Given the description of an element on the screen output the (x, y) to click on. 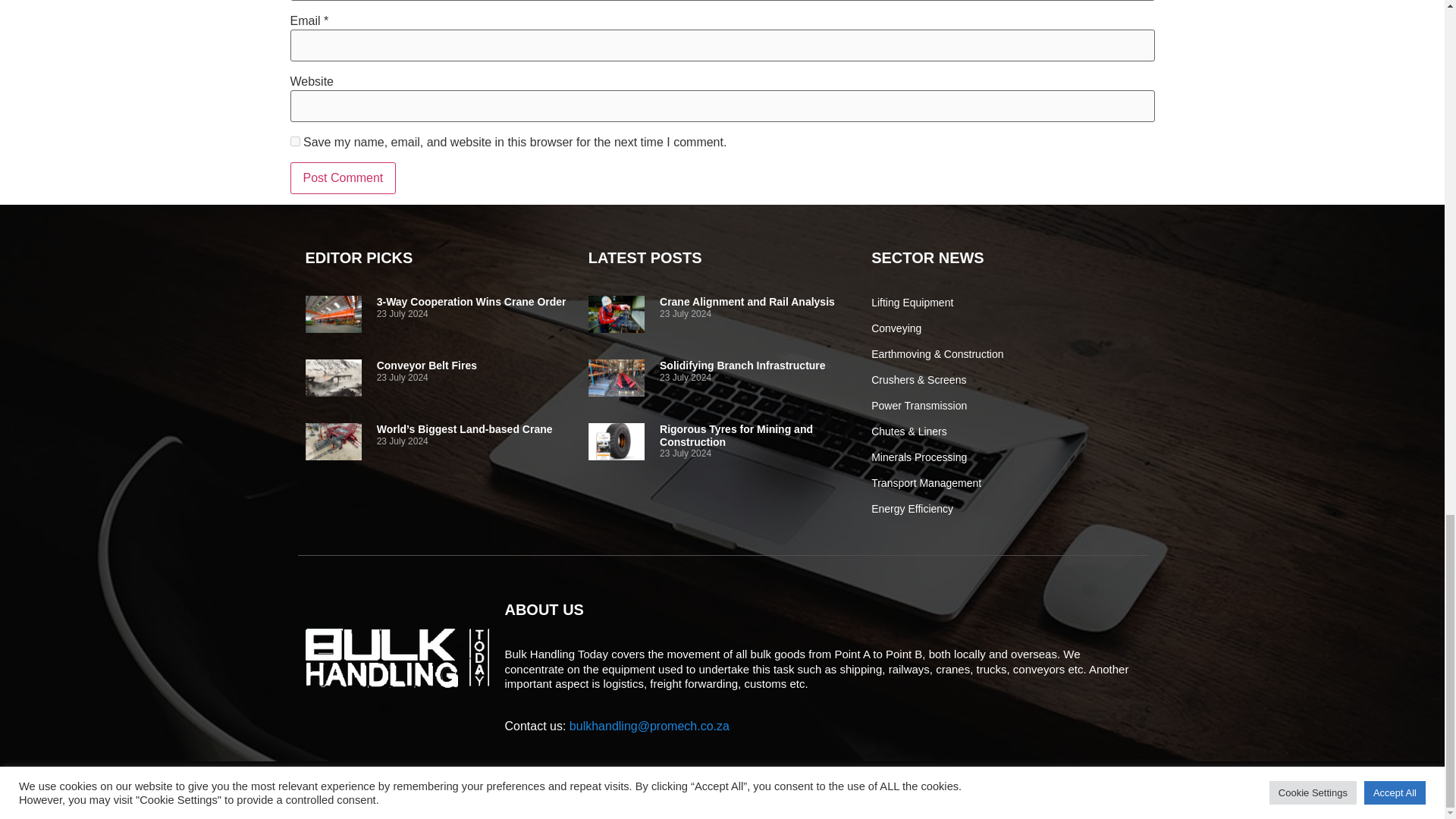
Post Comment (342, 178)
yes (294, 141)
